Given the description of an element on the screen output the (x, y) to click on. 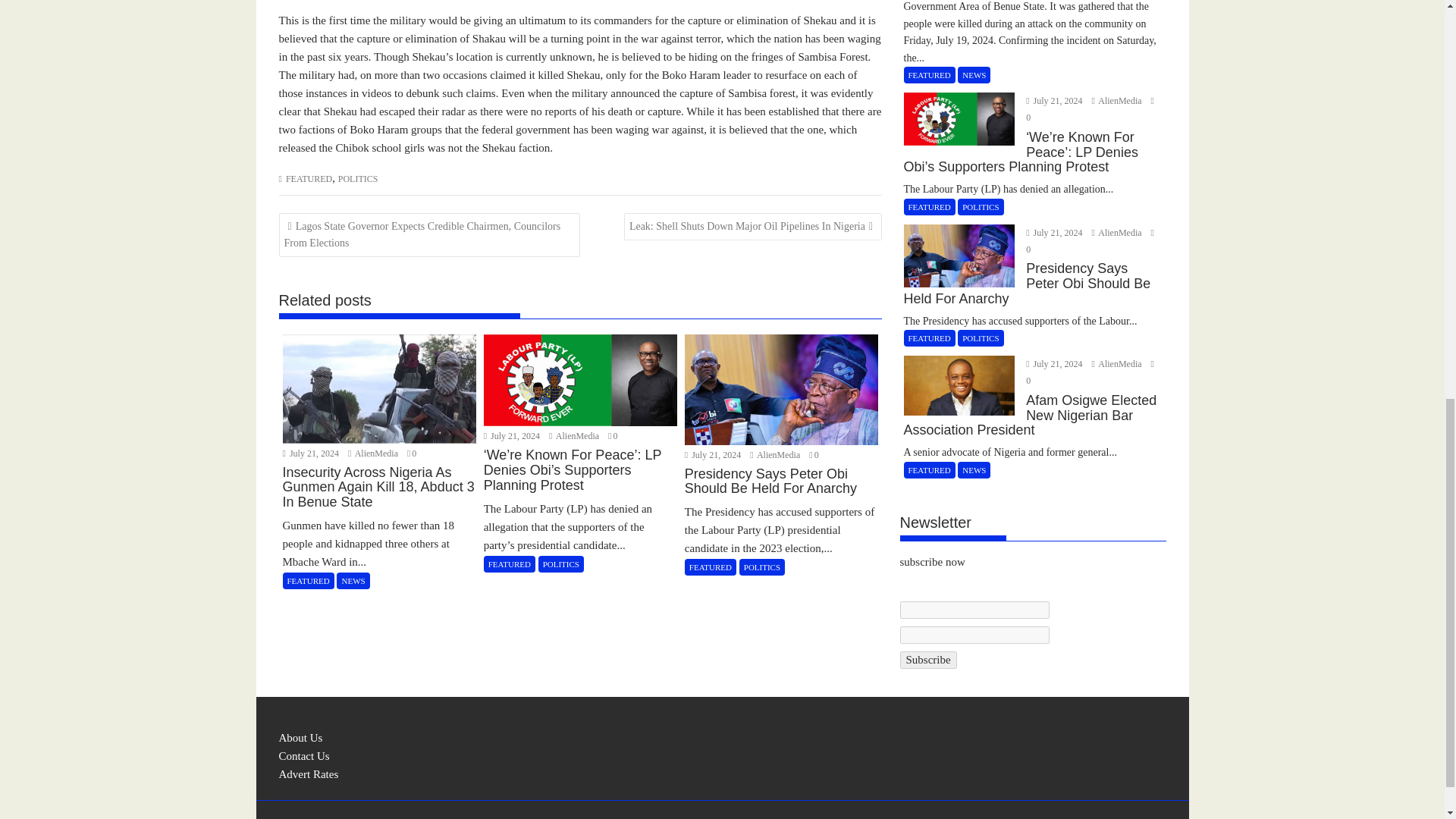
Subscribe (927, 660)
FEATURED (308, 178)
AlienMedia (574, 435)
AlienMedia (373, 452)
POLITICS (357, 178)
AlienMedia (775, 454)
